Given the description of an element on the screen output the (x, y) to click on. 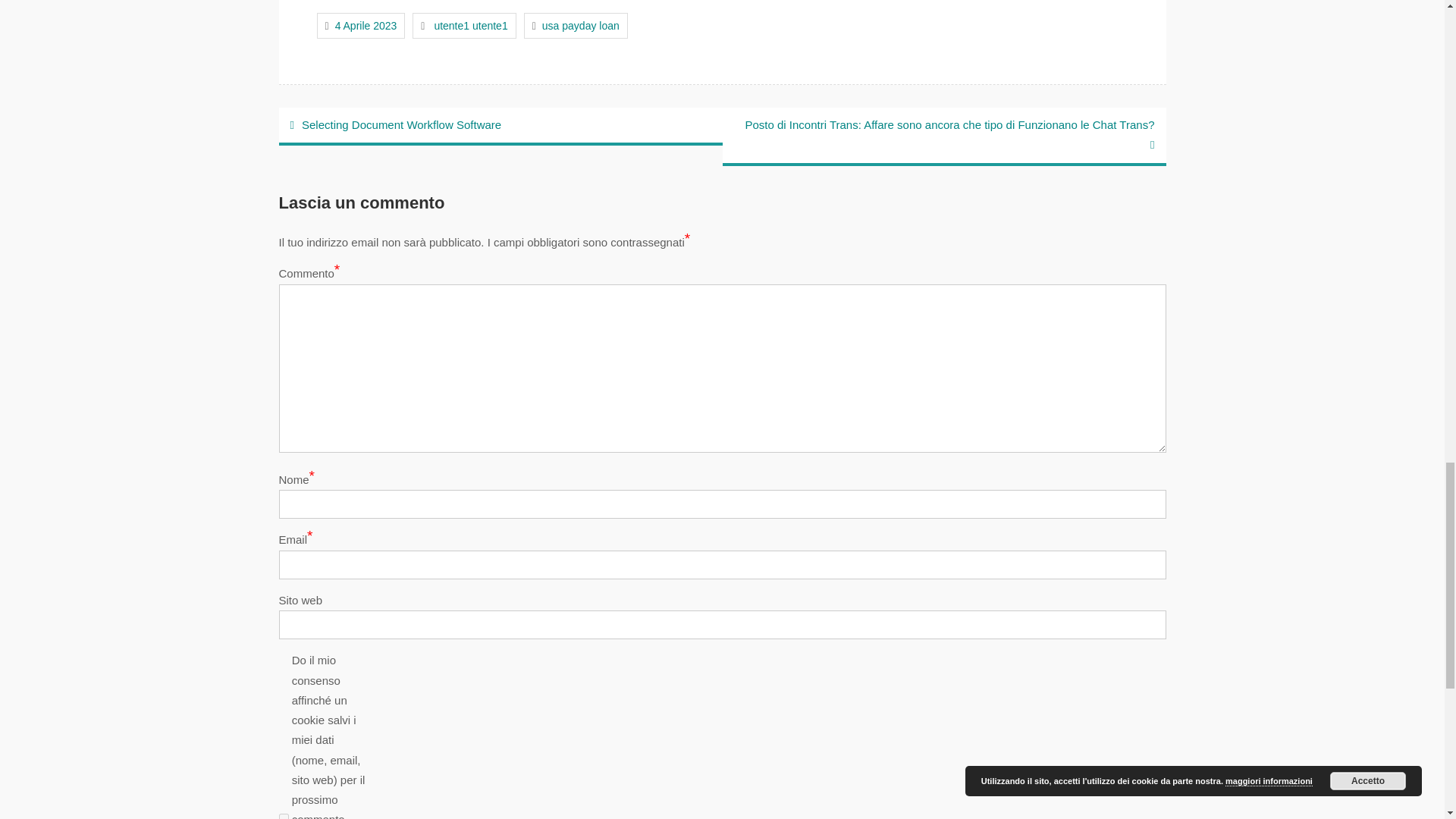
yes (283, 816)
